Given the description of an element on the screen output the (x, y) to click on. 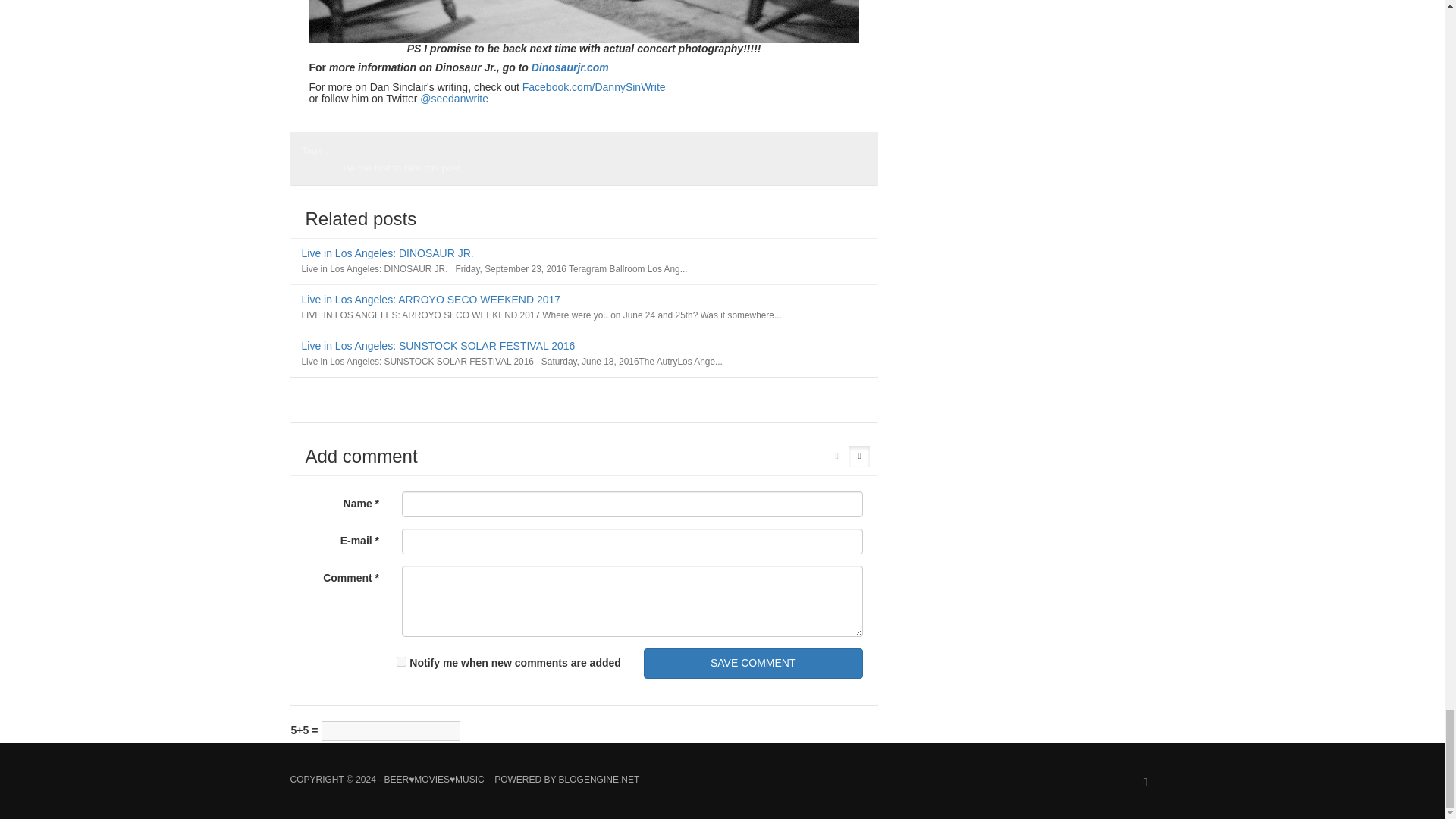
Live in Los Angeles: ARROYO SECO WEEKEND 2017 (430, 299)
4 (316, 174)
3 (312, 174)
Rate this 3 stars out of 5 (312, 174)
Live in Los Angeles: SUNSTOCK SOLAR FESTIVAL 2016 (438, 345)
5 (320, 174)
Dinosaurjr.com (569, 67)
Rate this 5 stars out of 5 (320, 174)
Live in Los Angeles: DINOSAUR JR. (387, 253)
Rate this 4 stars out of 5 (316, 174)
Save comment (753, 663)
on (401, 661)
